Given the description of an element on the screen output the (x, y) to click on. 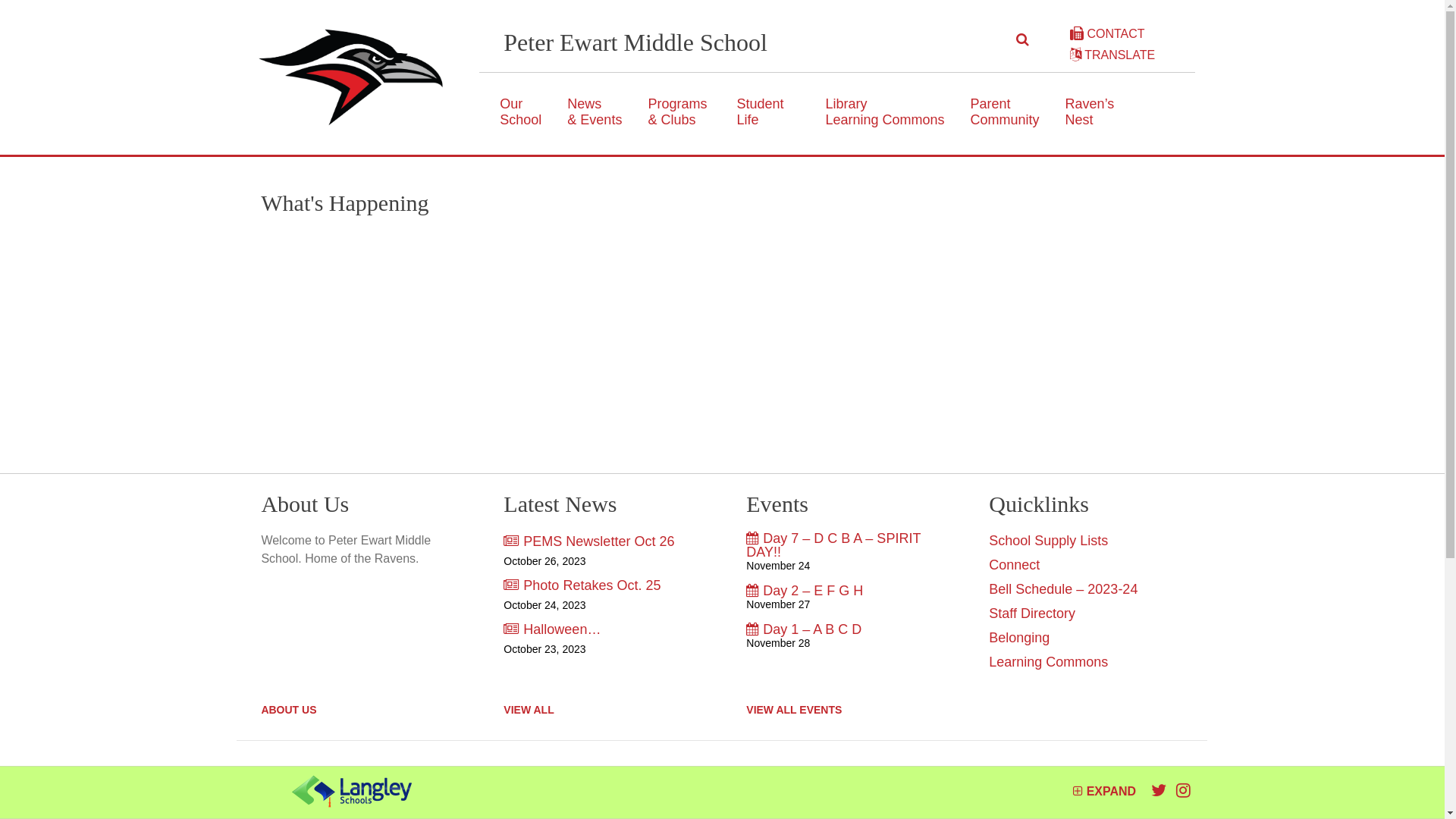
ABOUT US Element type: text (288, 709)
Staff Directory Element type: text (1031, 613)
SD35, Langley School District Element type: hover (351, 791)
Library 
Learning Commons Element type: text (884, 110)
Parent 
Community Element type: text (1004, 110)
PEMS Newsletter Oct 26 Element type: text (600, 541)
VIEW ALL Element type: text (528, 709)
Belonging Element type: text (1018, 637)
Student 
Life Element type: text (761, 110)
Connect Element type: text (1013, 564)
VIEW ALL EVENTS Element type: text (793, 709)
 EXPAND Element type: text (1104, 791)
School Supply Lists Element type: text (1047, 540)
Programs 
& Clubs Element type: text (678, 110)
Learning Commons Element type: text (1047, 661)
News 
& Events Element type: text (594, 110)
Photo Retakes Oct. 25 Element type: text (600, 585)
 TRANSLATE Element type: text (1112, 54)
Our 
School Element type: text (520, 110)
 CONTACT Element type: text (1107, 33)
